Given the description of an element on the screen output the (x, y) to click on. 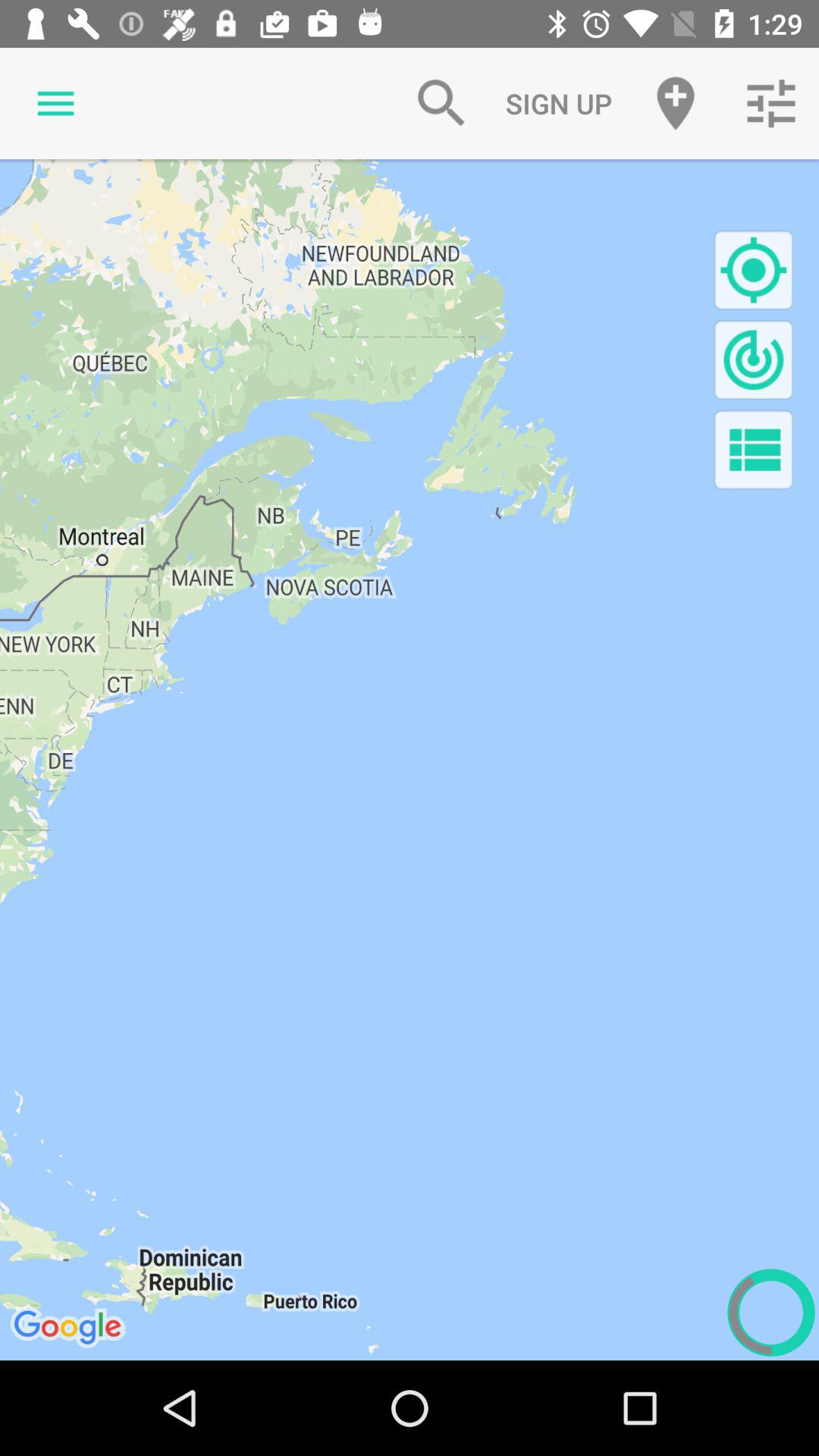
tap icon at the top left corner (55, 103)
